Given the description of an element on the screen output the (x, y) to click on. 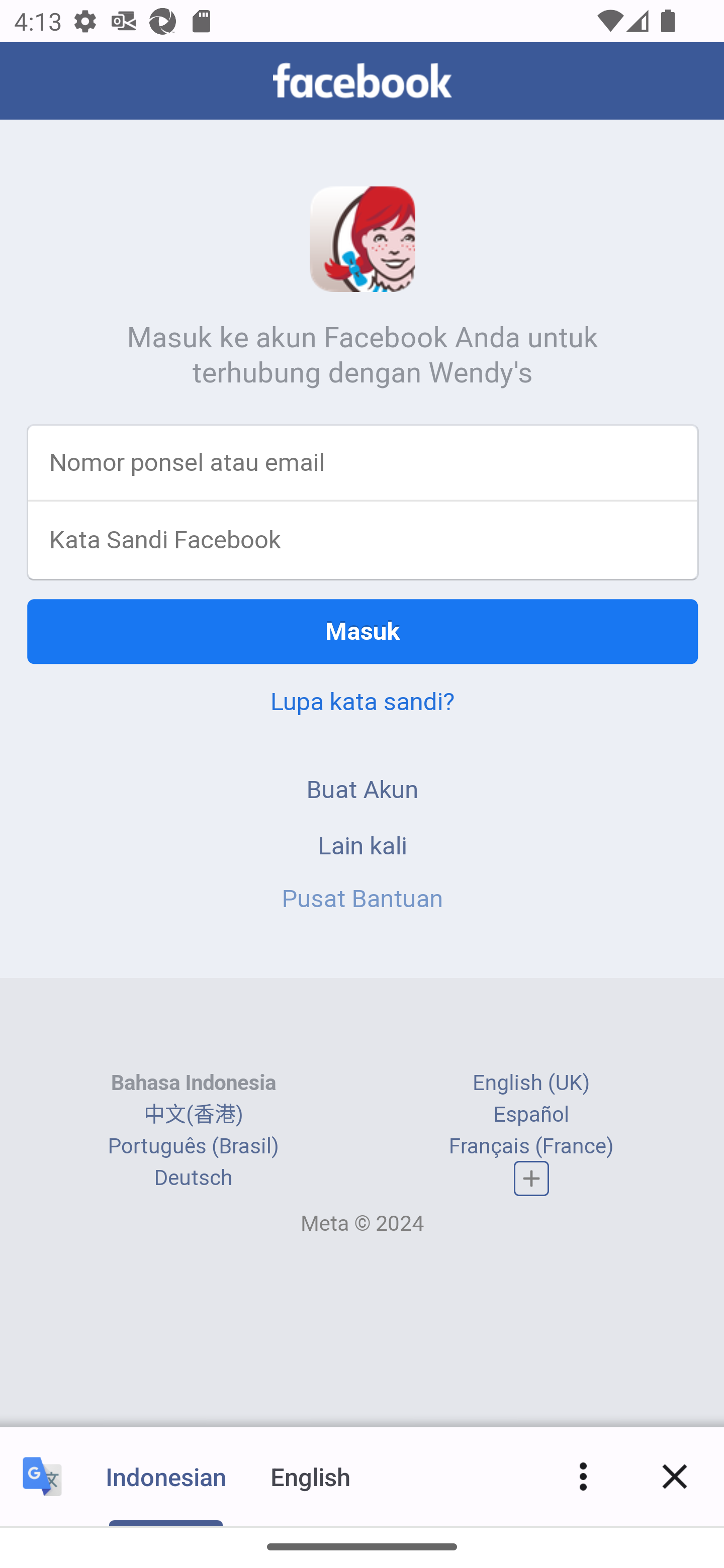
facebook (361, 80)
Masuk (363, 630)
Lupa kata sandi? (362, 702)
Buat Akun (363, 789)
Lain kali (362, 845)
Pusat Bantuan (363, 898)
English (UK) (531, 1082)
中文(香港) (193, 1113)
Español (531, 1113)
Português (Brasil) (193, 1145)
Français (France) (530, 1145)
Daftar bahasa lengkap (531, 1178)
Deutsch (192, 1177)
English (310, 1475)
More options (582, 1475)
Close (674, 1475)
